Given the description of an element on the screen output the (x, y) to click on. 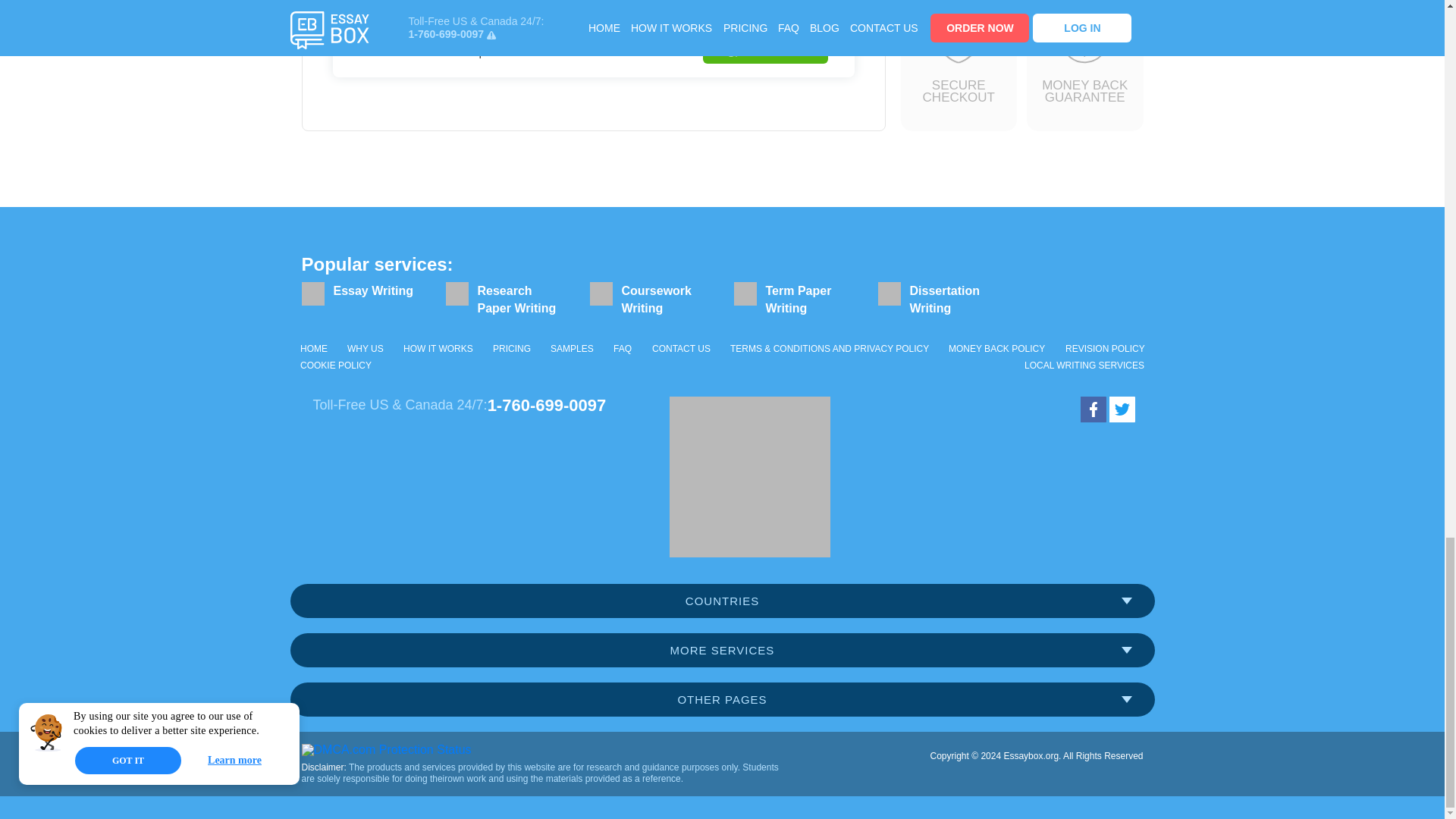
WHY US (365, 348)
1-760-699-0097 (547, 405)
HOW IT WORKS (438, 348)
CONTACT US (681, 348)
Essay Writing (362, 296)
SAMPLES (572, 348)
PRICING (512, 348)
COUNTRIES (721, 600)
LOCAL WRITING SERVICES (1084, 365)
FAQ (621, 348)
Term Paper Writing (794, 305)
HOME (313, 348)
Dissertation Writing (937, 305)
MONEY BACK POLICY (997, 348)
COOKIE POLICY (335, 365)
